Given the description of an element on the screen output the (x, y) to click on. 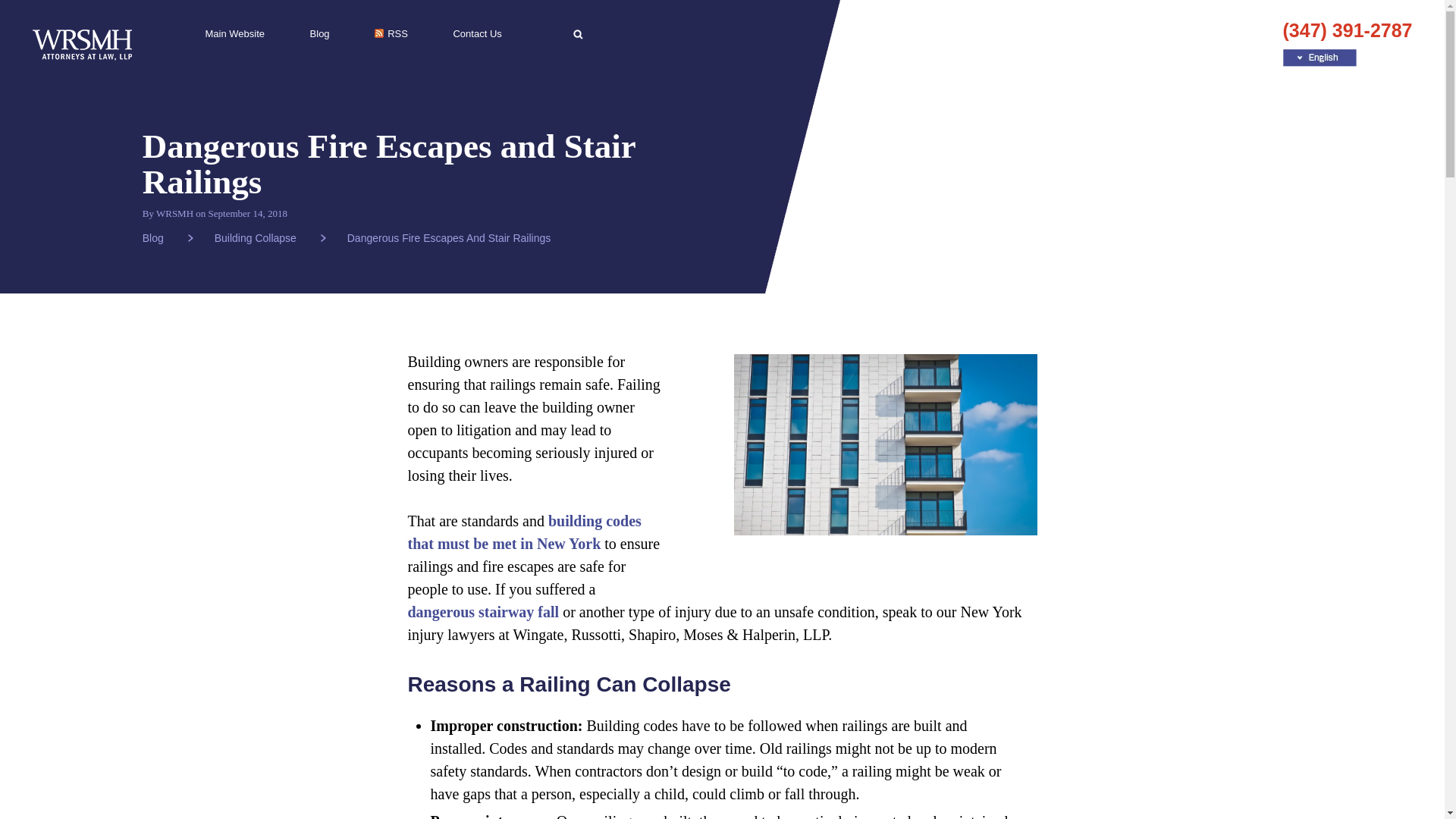
Blog (319, 33)
dangerous stairway fall (483, 611)
Contact Us (476, 33)
building codes that must be met in New York (524, 532)
Building Collapse (270, 237)
Blog (167, 237)
RSS (390, 33)
Main Website (234, 33)
